Given the description of an element on the screen output the (x, y) to click on. 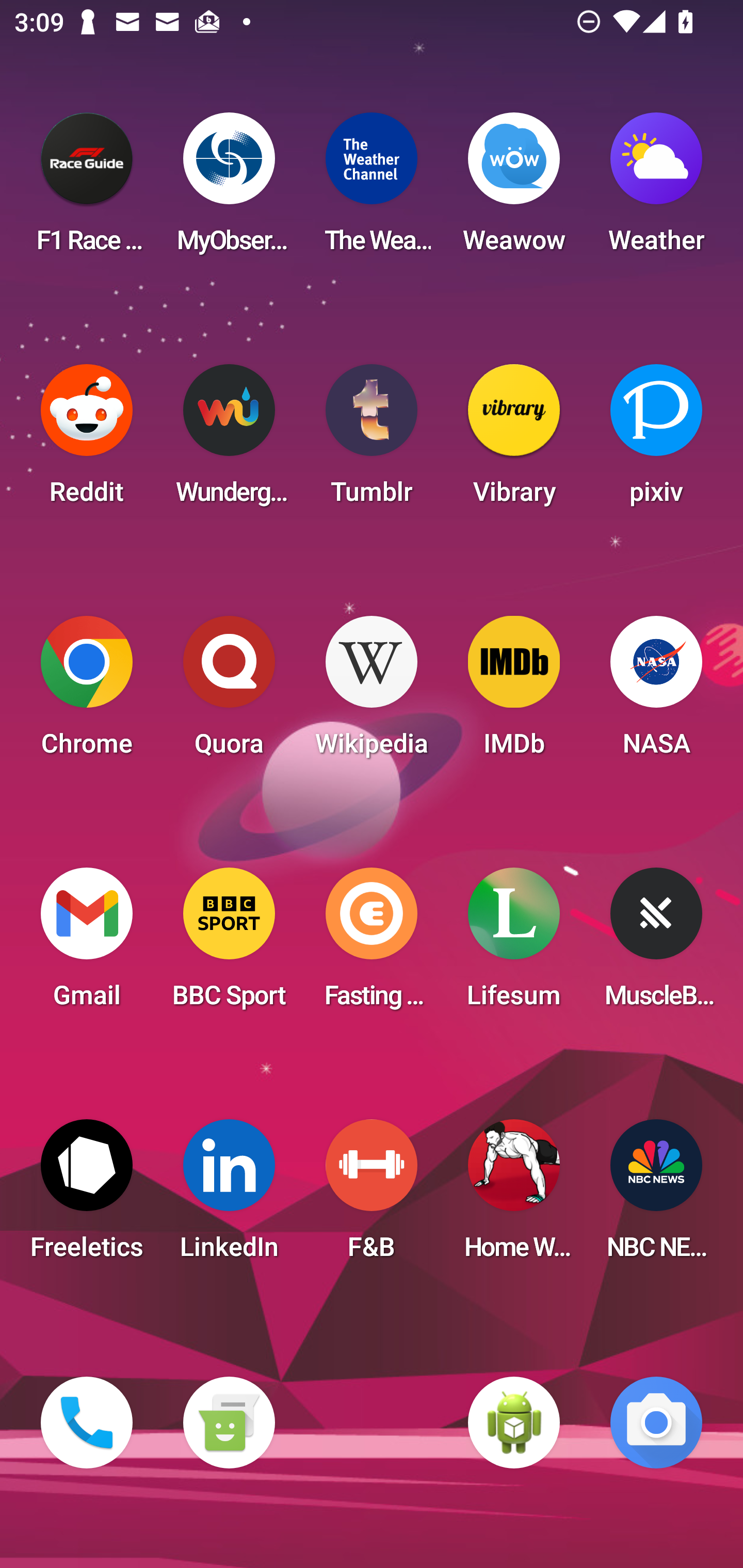
F1 Race Guide (86, 188)
MyObservatory (228, 188)
The Weather Channel (371, 188)
Weawow (513, 188)
Weather (656, 188)
Reddit (86, 440)
Wunderground (228, 440)
Tumblr (371, 440)
Vibrary (513, 440)
pixiv (656, 440)
Chrome (86, 692)
Quora (228, 692)
Wikipedia (371, 692)
IMDb (513, 692)
NASA (656, 692)
Gmail (86, 943)
BBC Sport (228, 943)
Fasting Coach (371, 943)
Lifesum (513, 943)
MuscleBooster (656, 943)
Freeletics (86, 1195)
LinkedIn (228, 1195)
F&B (371, 1195)
Home Workout (513, 1195)
NBC NEWS (656, 1195)
Phone (86, 1422)
Messaging (228, 1422)
WebView Browser Tester (513, 1422)
Camera (656, 1422)
